Given the description of an element on the screen output the (x, y) to click on. 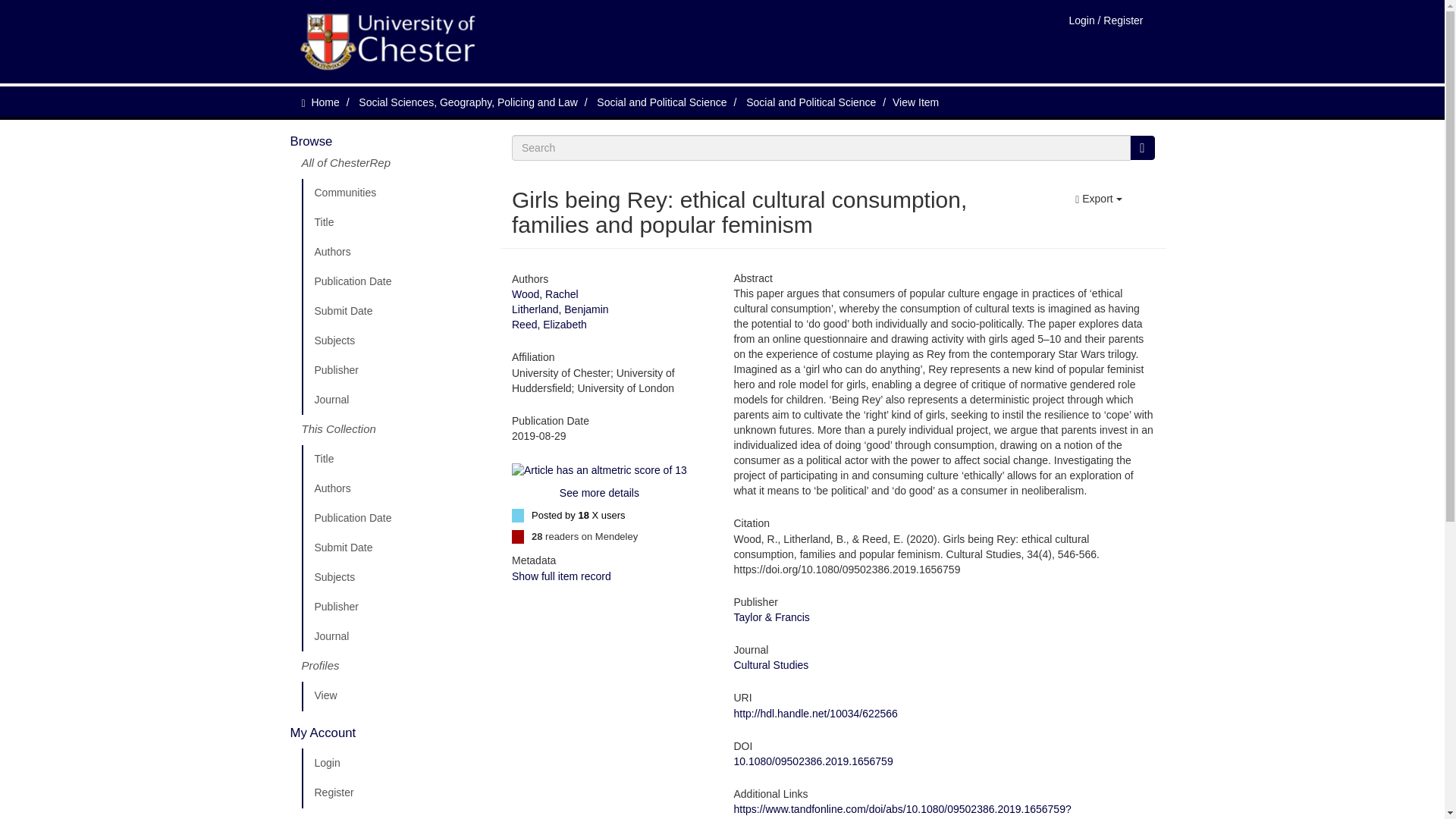
Home (325, 102)
Authors (395, 489)
Subjects (395, 340)
Profiles (395, 666)
Submit Date (395, 548)
View (395, 695)
This Collection (395, 429)
Subjects (395, 577)
Journal (395, 399)
Publisher (395, 370)
Social and Political Science (661, 102)
Register (395, 793)
Publication Date (395, 281)
Title (395, 223)
Title (395, 459)
